Given the description of an element on the screen output the (x, y) to click on. 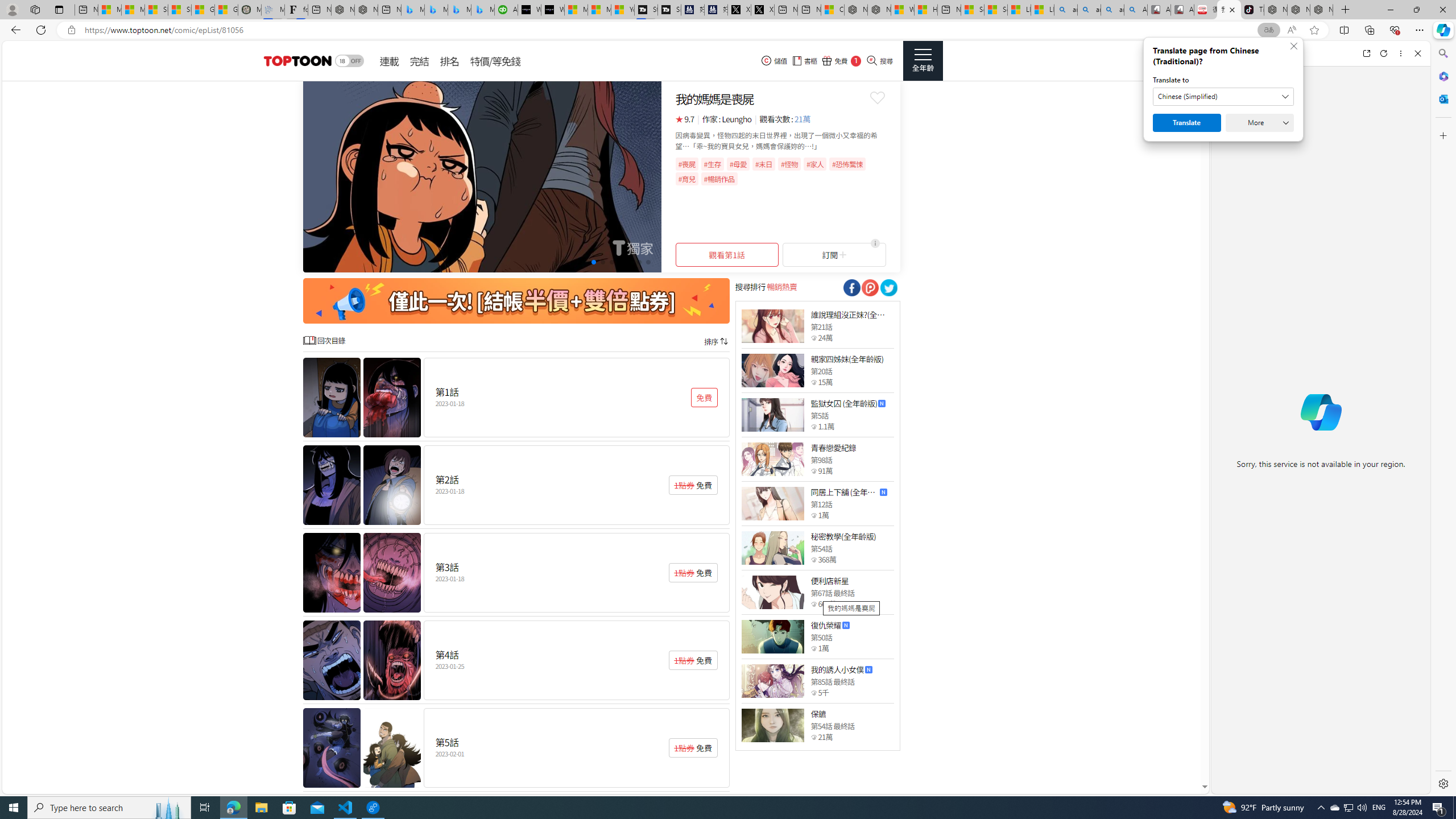
Nordace - Best Sellers (1275, 9)
